Given the description of an element on the screen output the (x, y) to click on. 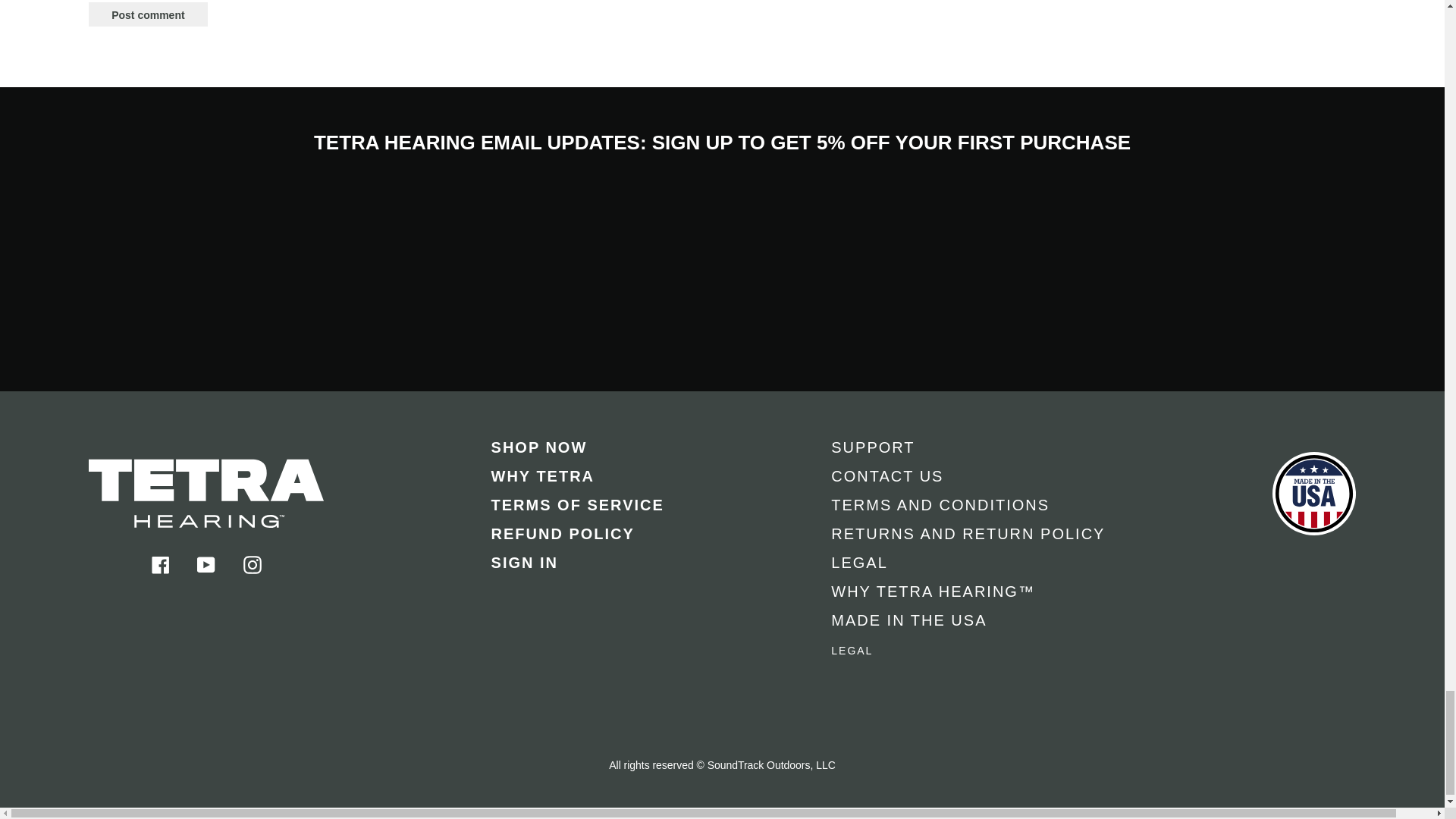
TETRA Hearing Devices for Hunting on YouTube (205, 563)
TETRA Hearing Devices for Hunting on Facebook (160, 563)
Post comment (147, 14)
Made in the Usa (1313, 545)
TETRA Hearing Devices for Hunting on Instagram (252, 563)
